Given the description of an element on the screen output the (x, y) to click on. 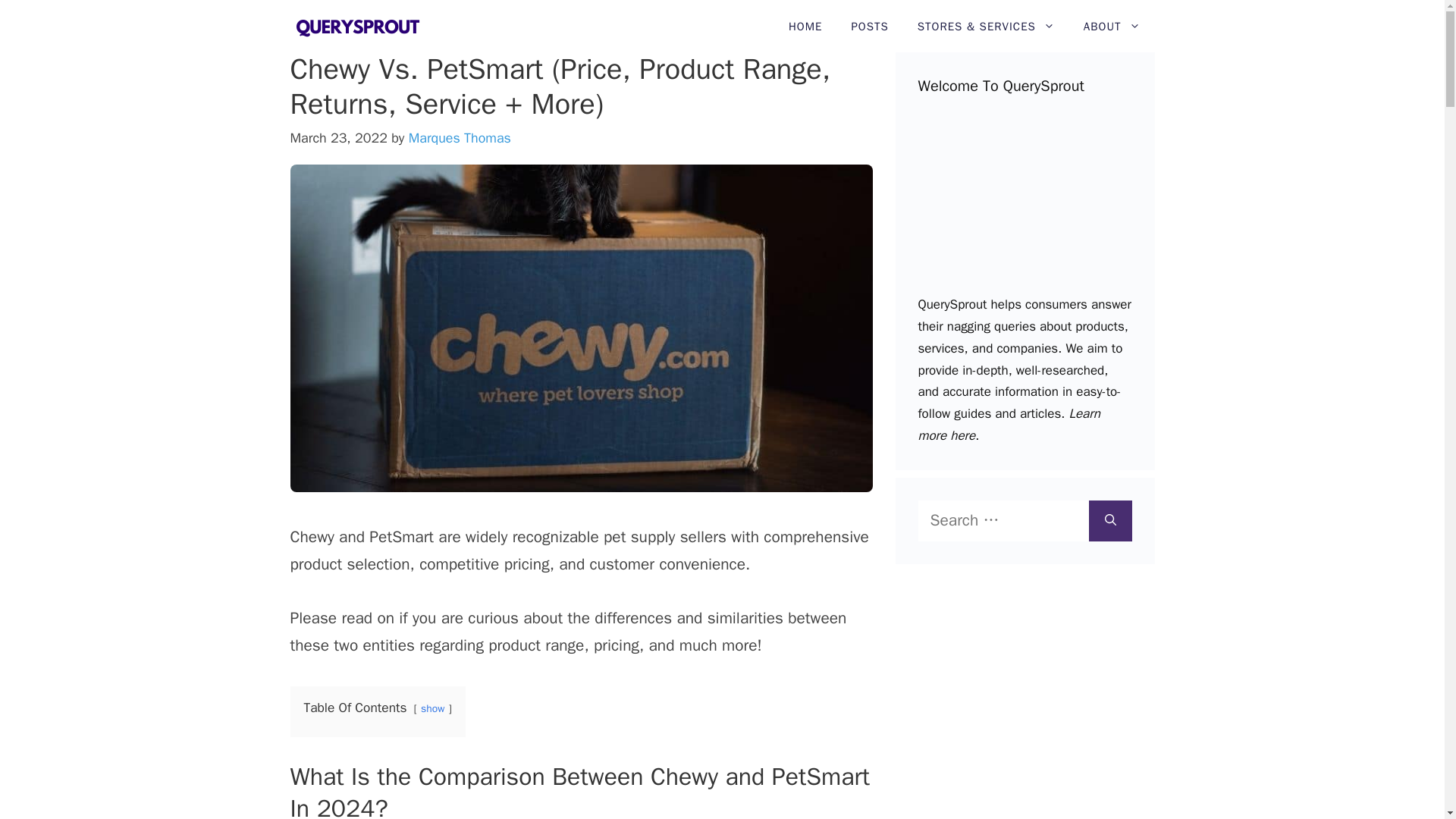
HOME (804, 26)
Marques Thomas (460, 137)
View all posts by Marques Thomas (460, 137)
ABOUT (1111, 26)
POSTS (868, 26)
Search for: (1002, 520)
show (432, 707)
